Given the description of an element on the screen output the (x, y) to click on. 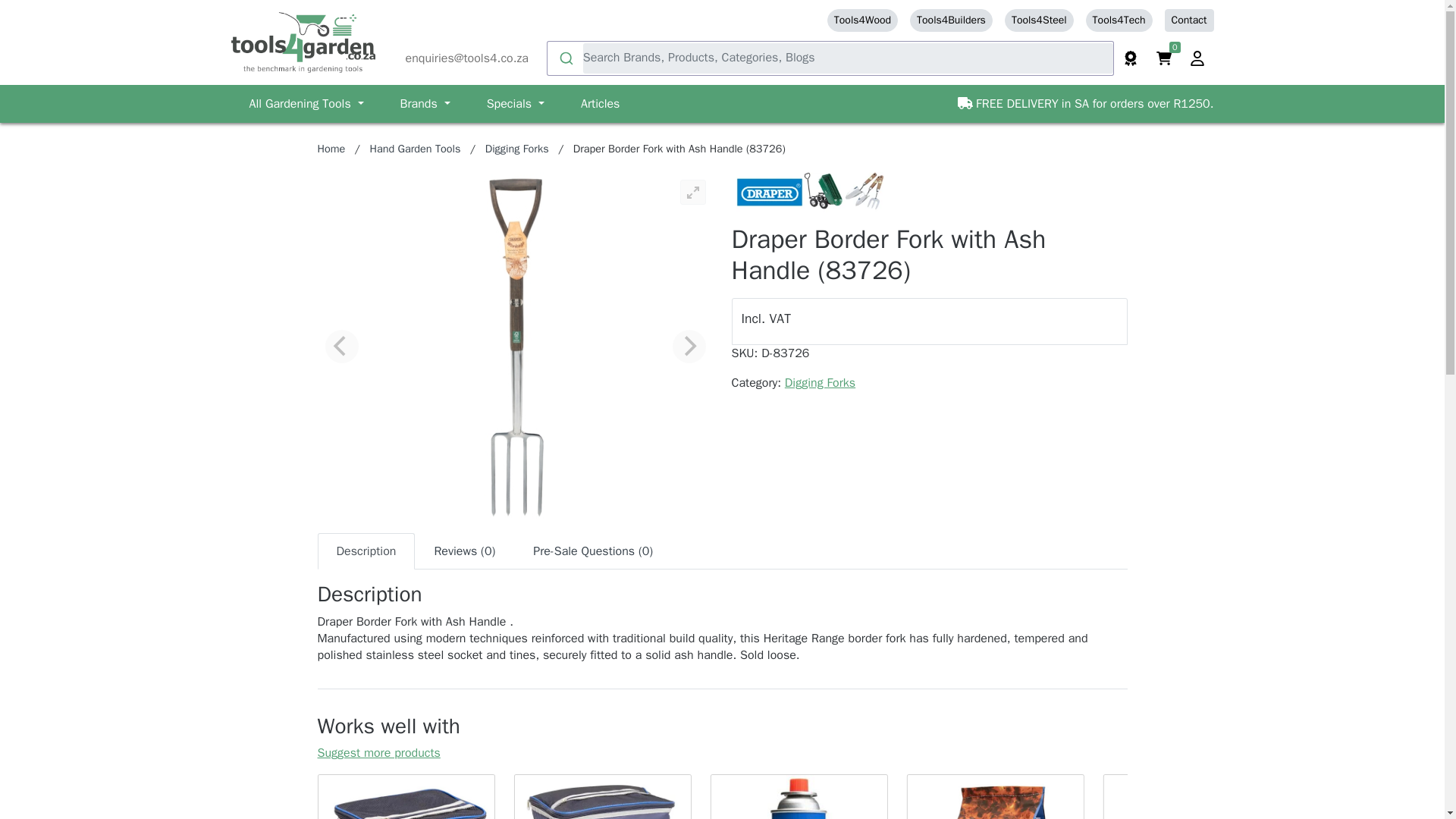
What are Bench Marks? (1130, 58)
0 (1163, 58)
Contact (1189, 20)
Tools4Builders (951, 20)
View full-screen (691, 191)
Tools4Wood (862, 20)
Tools4Steel (1039, 20)
Brands (424, 103)
Submit (565, 58)
All Gardening Tools (305, 103)
Tools4Tech (1119, 20)
Tools4Garden (302, 41)
